Given the description of an element on the screen output the (x, y) to click on. 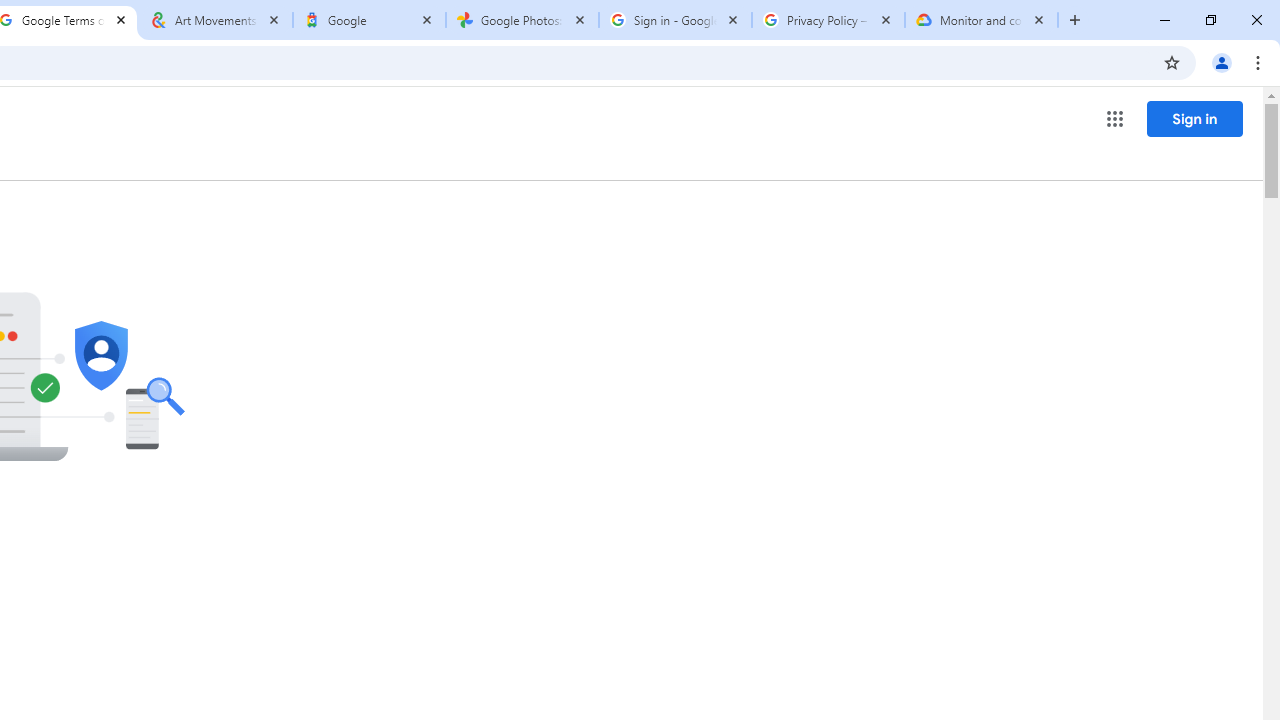
Sign in - Google Accounts (675, 20)
Google (369, 20)
